Given the description of an element on the screen output the (x, y) to click on. 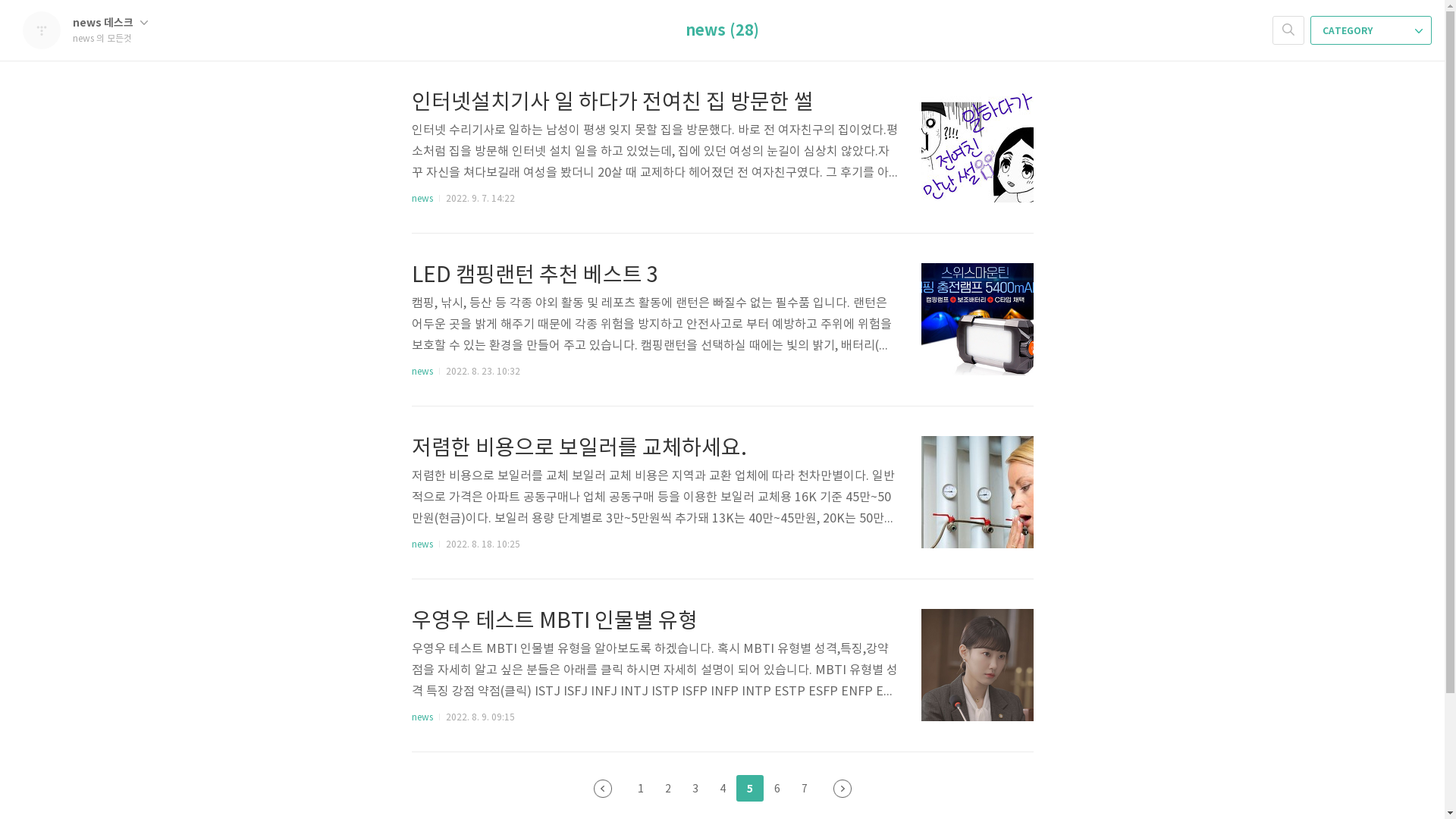
CATEGORY Element type: text (1370, 29)
news Element type: text (421, 198)
4 Element type: text (721, 788)
news (28) Element type: text (722, 30)
2 Element type: text (666, 788)
news Element type: text (421, 717)
news Element type: text (421, 371)
7 Element type: text (803, 788)
3 Element type: text (694, 788)
5 Element type: text (748, 788)
news Element type: text (421, 544)
1 Element type: text (639, 788)
6 Element type: text (776, 788)
